Given the description of an element on the screen output the (x, y) to click on. 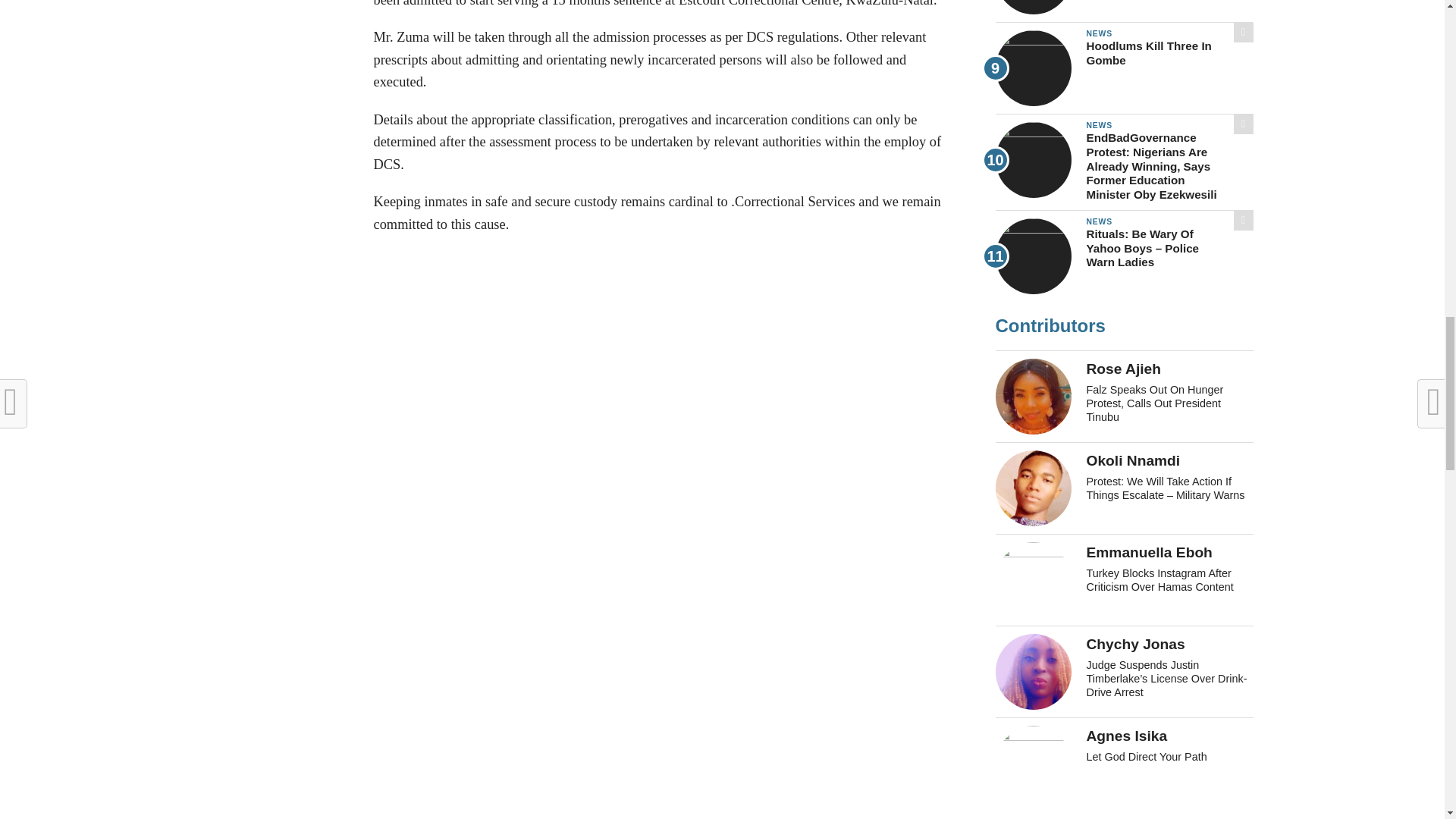
Zuma arrives EstCourt Correctional Facility (660, 759)
